Given the description of an element on the screen output the (x, y) to click on. 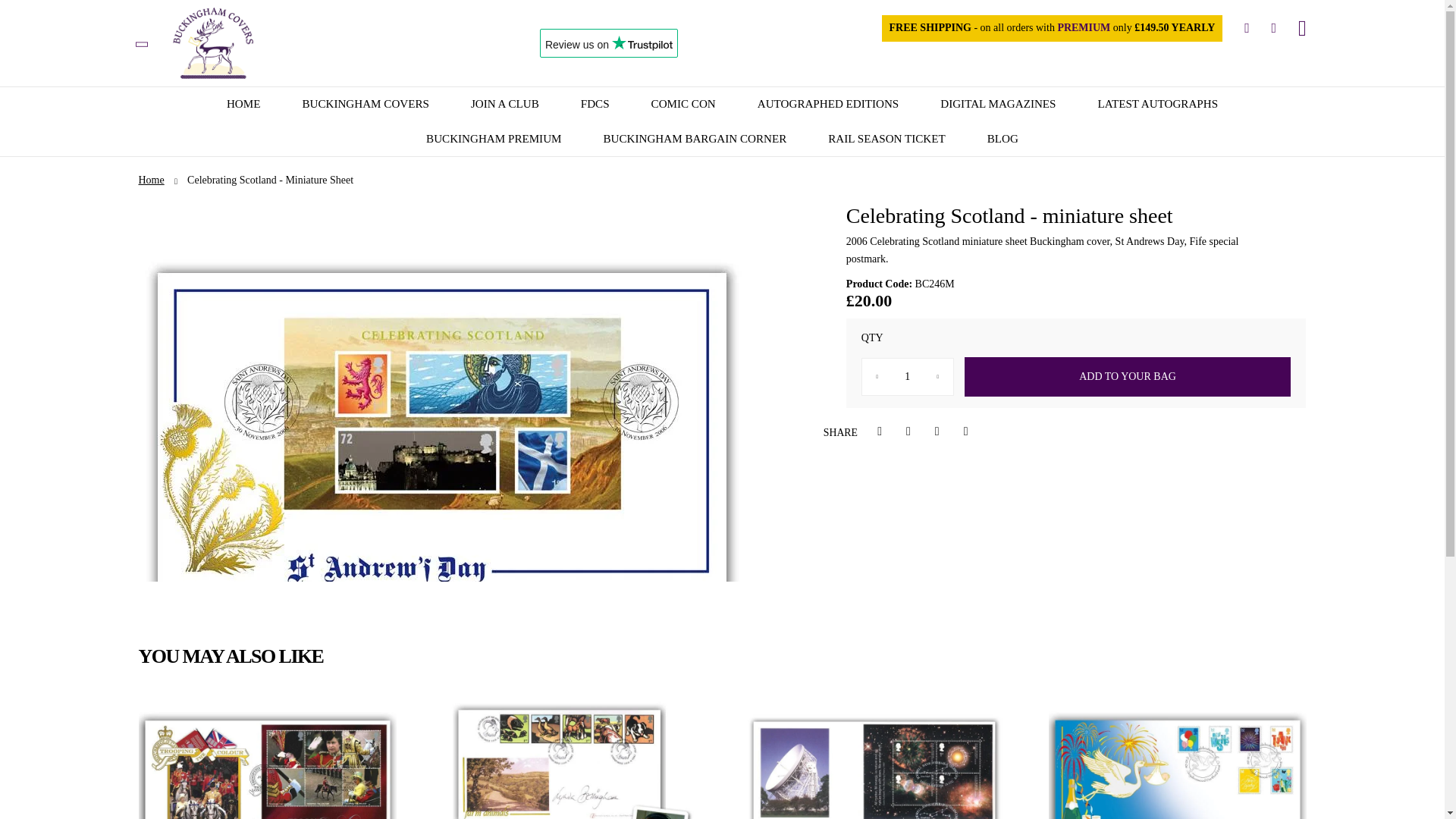
Customer reviews powered by Trustpilot (608, 42)
